Given the description of an element on the screen output the (x, y) to click on. 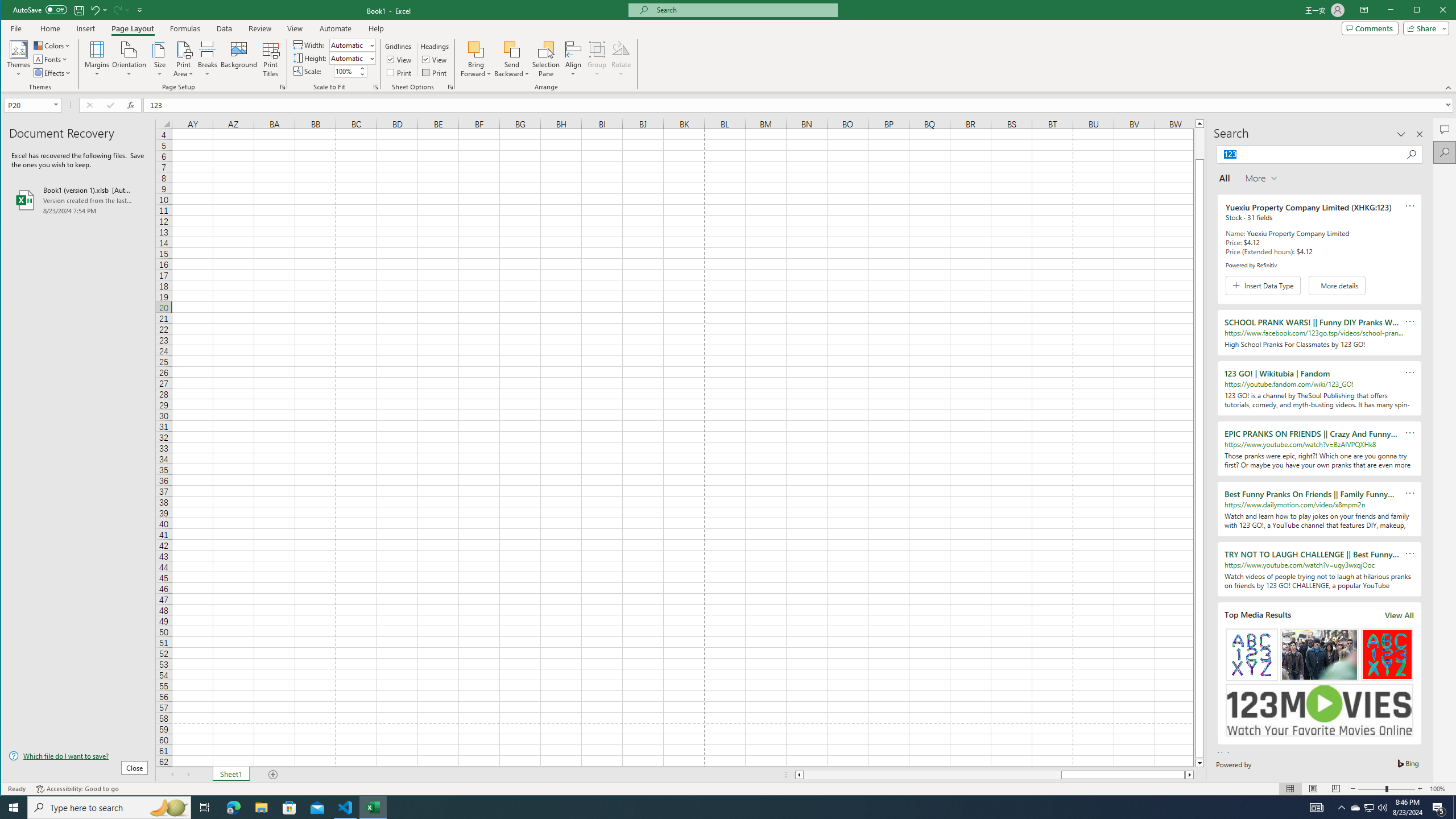
Page Setup (375, 86)
Send Backward (512, 48)
Task View (204, 807)
Group (596, 59)
Margins (96, 59)
Q2790: 100% (1382, 807)
Breaks (207, 59)
Sheet Options (449, 86)
